Given the description of an element on the screen output the (x, y) to click on. 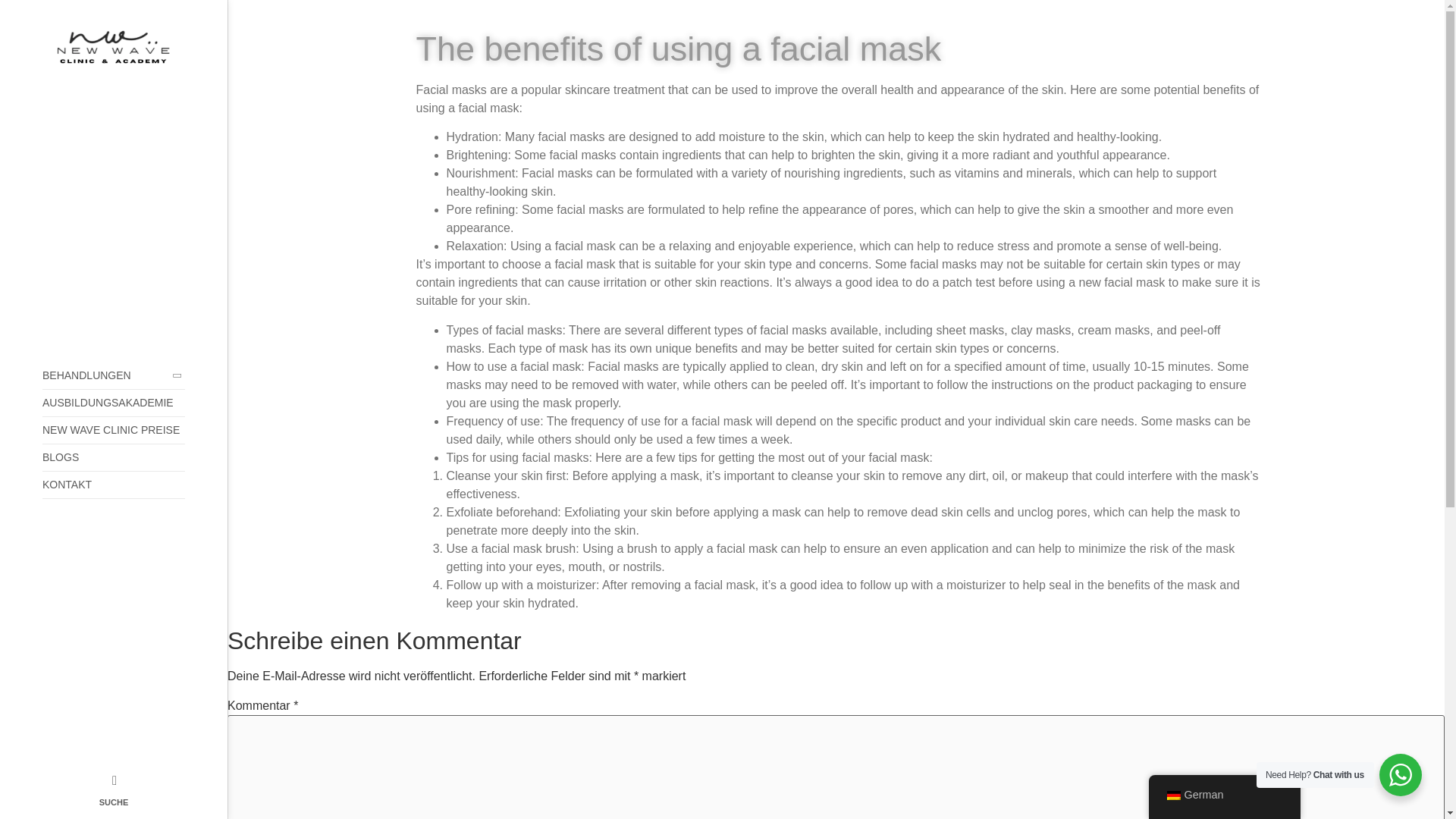
AUSBILDUNGSAKADEMIE (113, 402)
BLOGS (113, 457)
KONTAKT (113, 484)
NEW WAVE CLINIC PREISE (113, 430)
German (1172, 795)
BEHANDLUNGEN (113, 375)
